Given the description of an element on the screen output the (x, y) to click on. 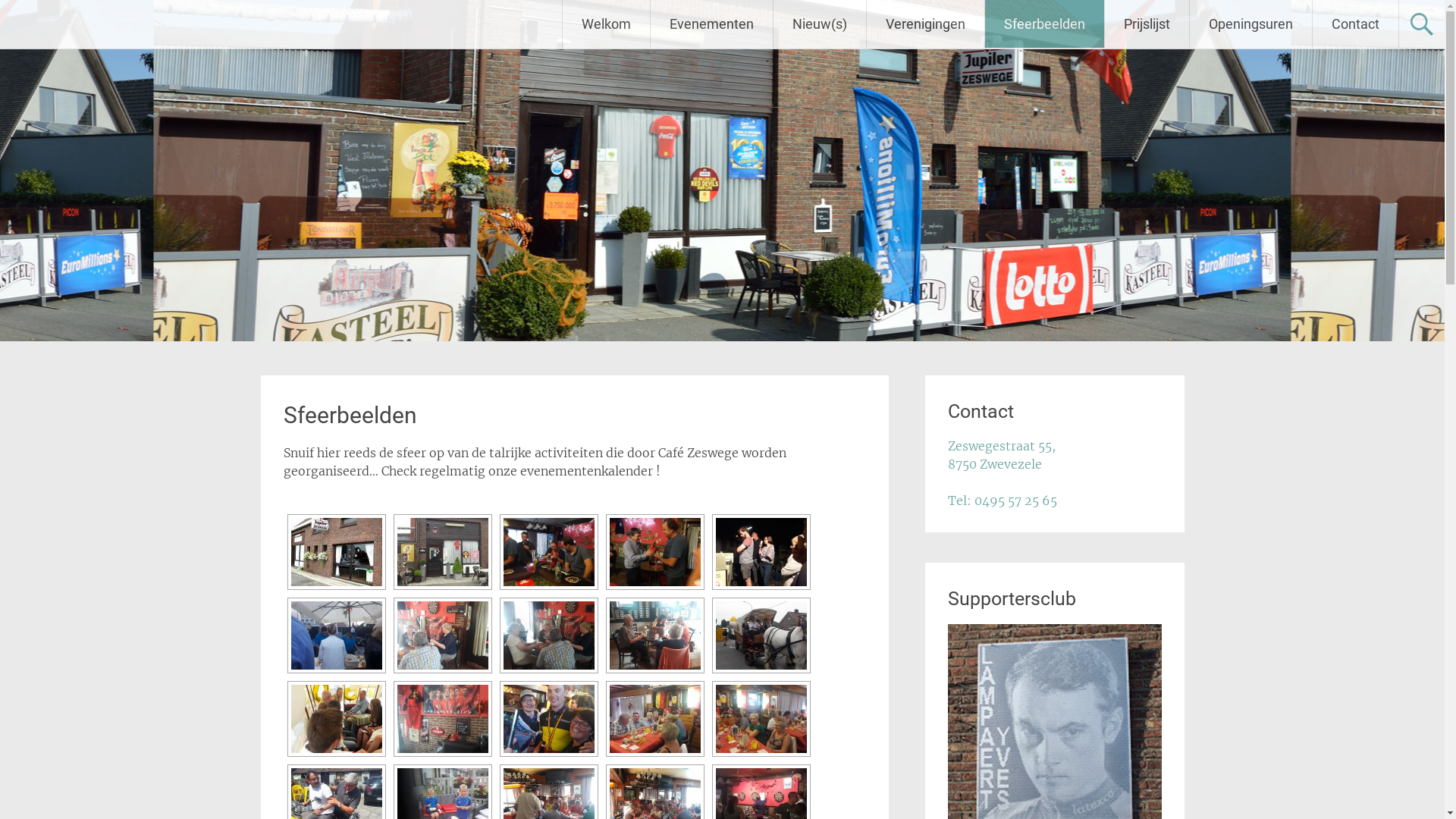
Nieuw(s) Element type: text (819, 23)
Zeswegestraat 55,
8750 Zwevezele

Tel: 0495 57 25 65 Element type: text (1002, 473)
Sfeerbeelden Element type: text (1044, 23)
Prijslijst Element type: text (1146, 23)
Welkom Element type: text (605, 23)
Openingsuren Element type: text (1250, 23)
Verenigingen Element type: text (925, 23)
Contact Element type: text (1355, 23)
Evenementen Element type: text (711, 23)
